Given the description of an element on the screen output the (x, y) to click on. 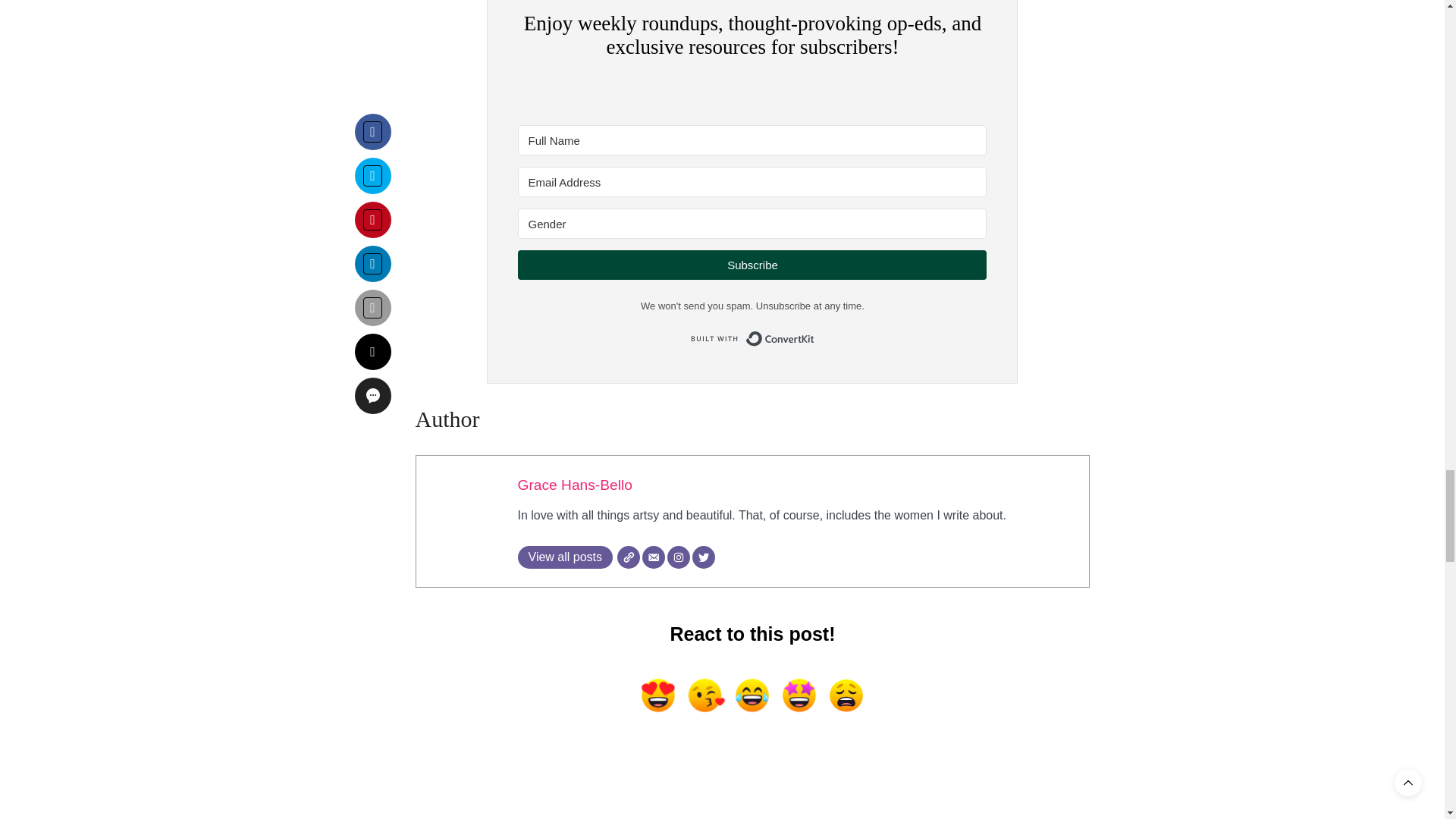
Subscribe (752, 265)
Grace Hans-Bello (573, 484)
Built with ConvertKit (751, 338)
View all posts (564, 557)
Grace Hans-Bello (573, 484)
View all posts (564, 557)
